Given the description of an element on the screen output the (x, y) to click on. 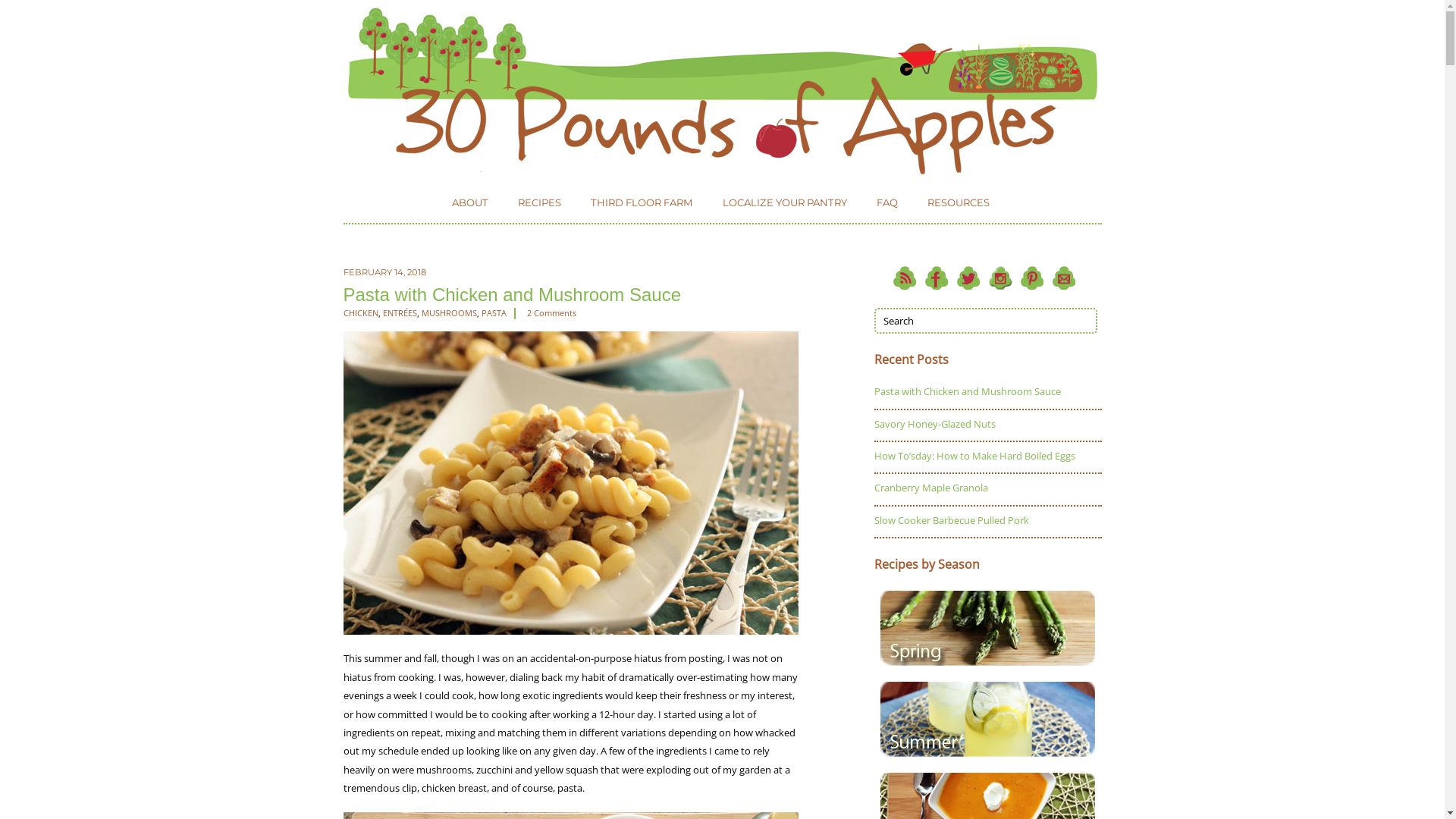
RESOURCES Element type: text (958, 202)
30 Pounds of Apples Element type: hover (721, 166)
Get updates via Email Element type: hover (1063, 278)
Savory Honey-Glazed Nuts Element type: text (933, 423)
THIRD FLOOR FARM Element type: text (641, 202)
Pasta with Chicken and Mushroom Sauce Element type: text (966, 391)
Get updates via RSS Element type: hover (903, 278)
Get updates via Facebook Element type: hover (935, 278)
ABOUT Element type: text (468, 202)
LOCALIZE YOUR PANTRY Element type: text (784, 202)
Get updates via Pinterest Element type: hover (1031, 278)
RECIPES Element type: text (539, 202)
2 Comments Element type: text (550, 312)
Pasta with Chicken and Mushroom Sauce Element type: text (511, 293)
30 Pounds of Apples Element type: hover (721, 90)
PASTA Element type: text (492, 312)
FAQ Element type: text (886, 202)
Slow Cooker Barbecue Pulled Pork Element type: text (950, 520)
Cranberry Maple Granola Element type: text (930, 487)
Get updates via Instagram Element type: hover (999, 278)
CHICKEN Element type: text (359, 312)
MUSHROOMS Element type: text (448, 312)
Get updates via Twitter Element type: hover (967, 278)
